Given the description of an element on the screen output the (x, y) to click on. 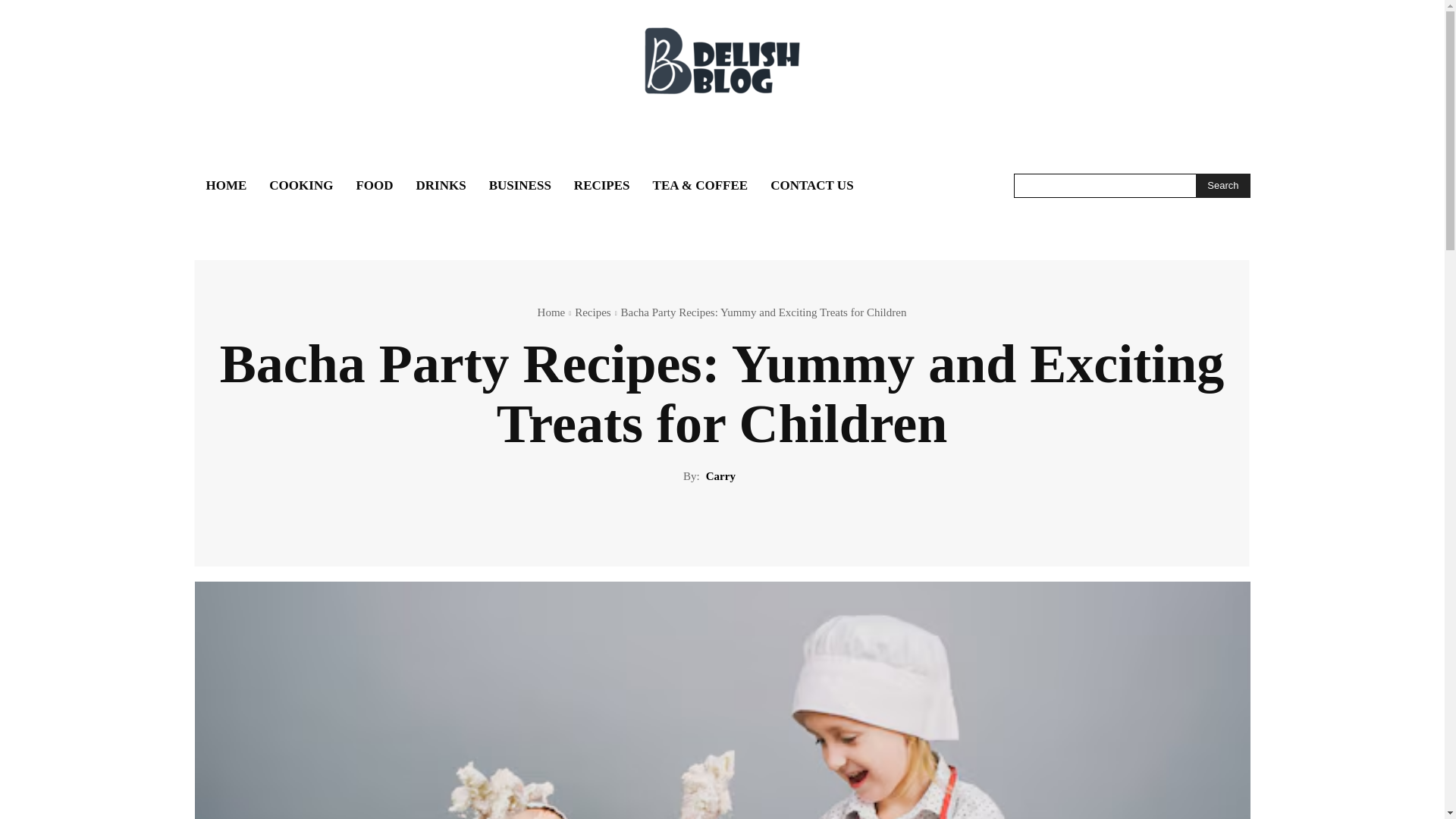
DRINKS (440, 185)
Search (1222, 185)
RECIPES (602, 185)
BUSINESS (519, 185)
FOOD (373, 185)
CONTACT US (811, 185)
Carry (720, 476)
HOME (225, 185)
Recipes (592, 312)
Home (551, 312)
View all posts in Recipes (592, 312)
COOKING (300, 185)
